Given the description of an element on the screen output the (x, y) to click on. 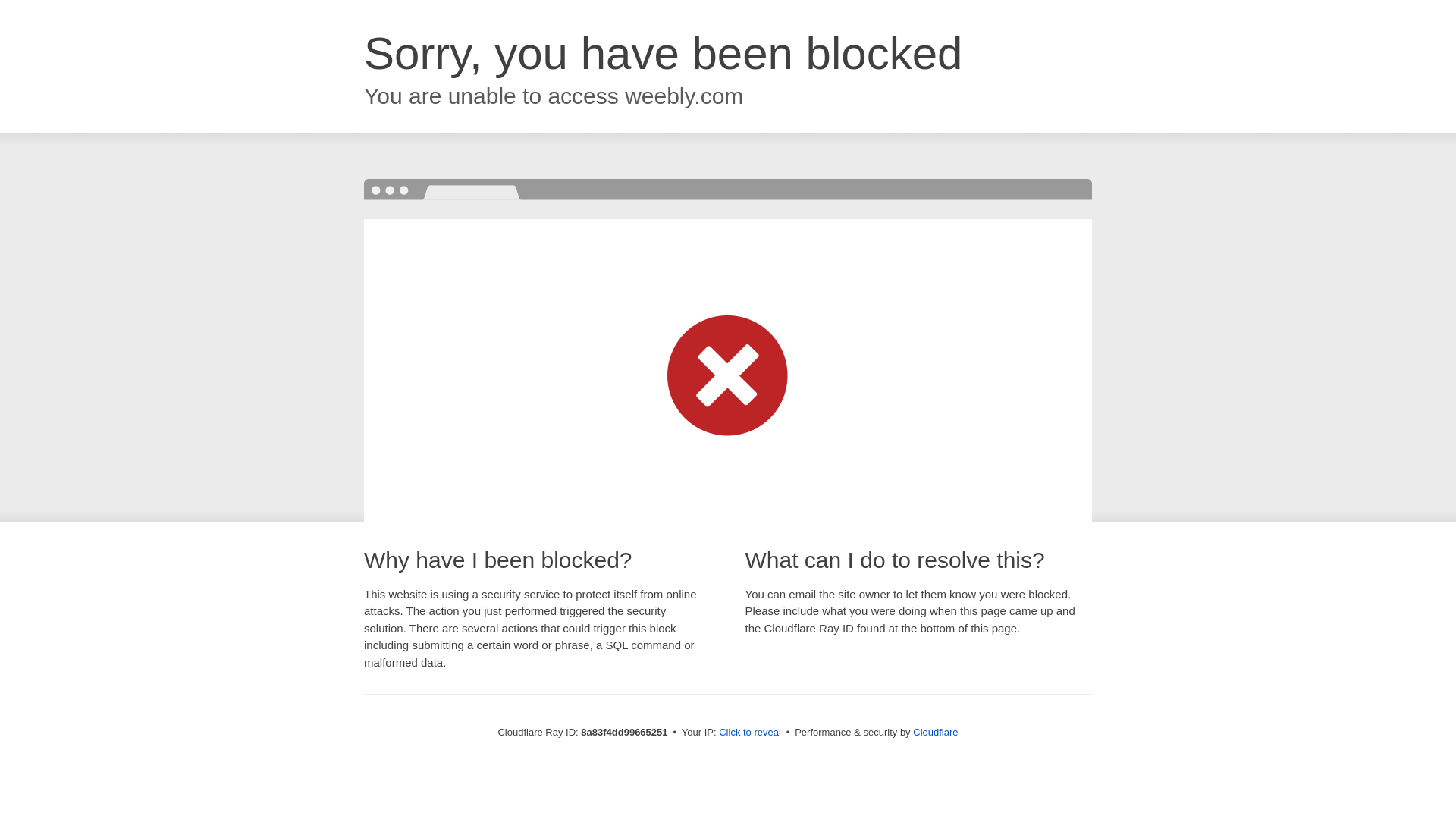
Click to reveal (749, 732)
Cloudflare (935, 731)
